Given the description of an element on the screen output the (x, y) to click on. 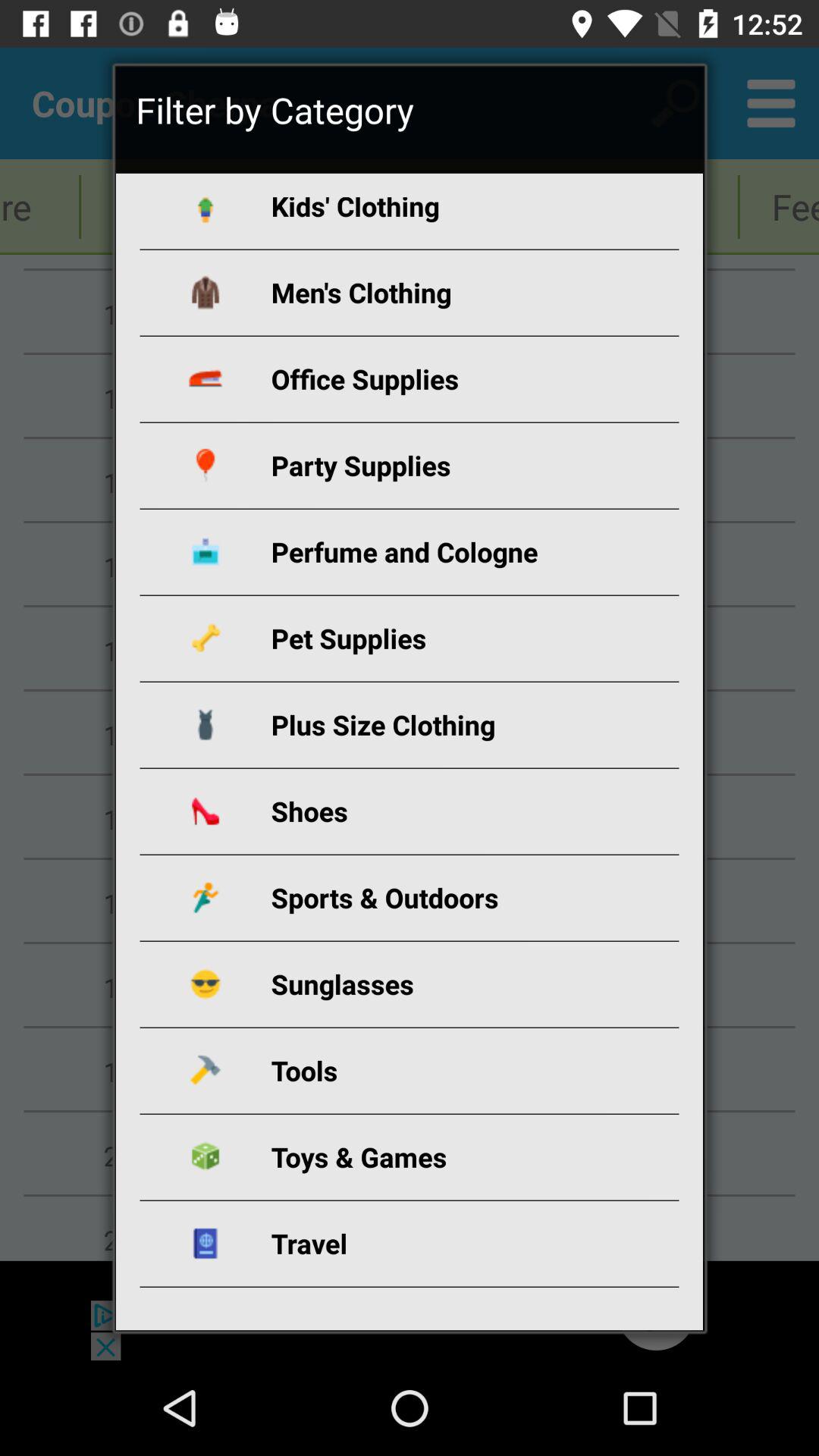
select app below the toys & games item (427, 1243)
